Given the description of an element on the screen output the (x, y) to click on. 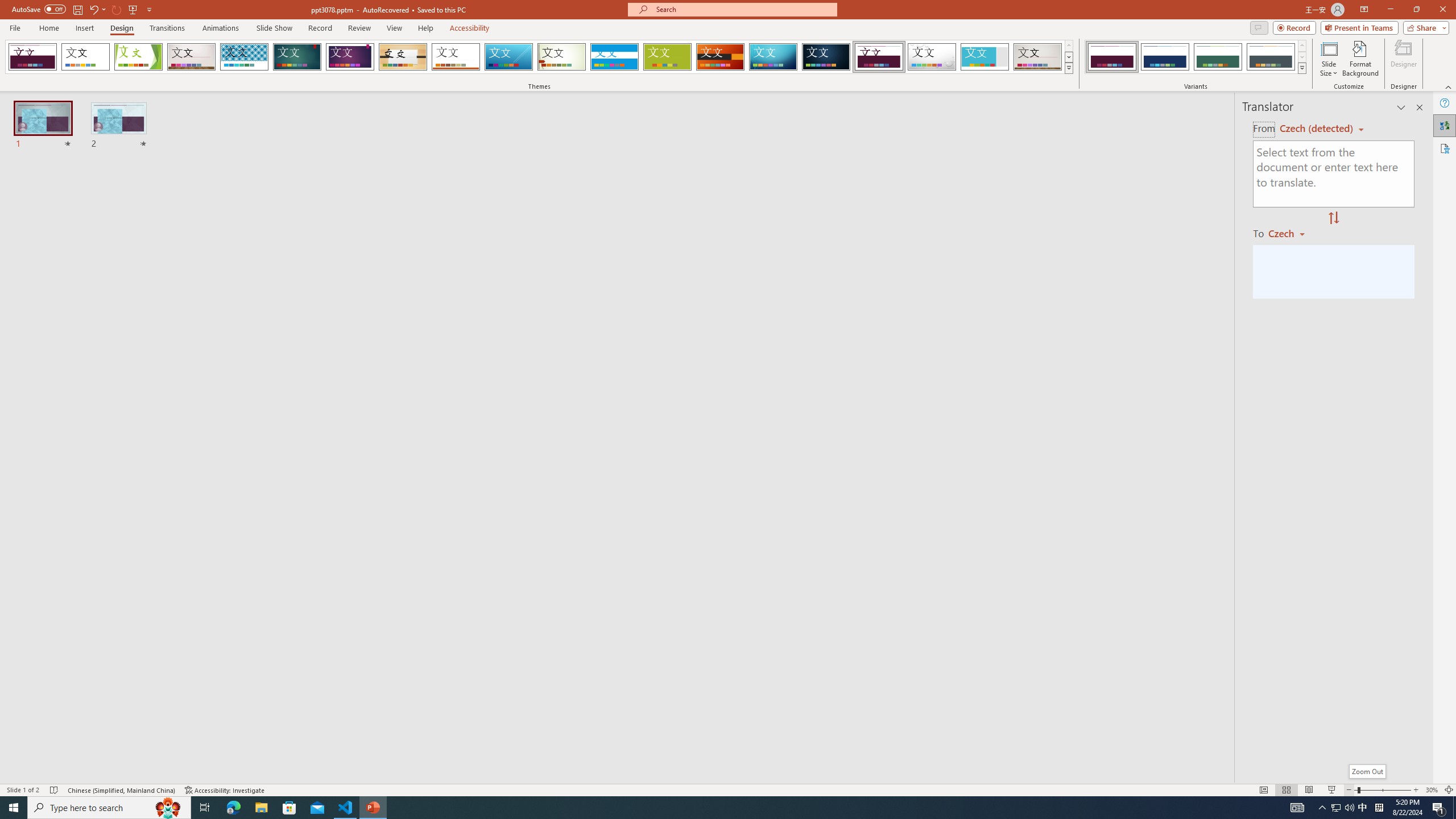
Ion (296, 56)
Variants (1301, 67)
Dividend Variant 2 (1164, 56)
